Given the description of an element on the screen output the (x, y) to click on. 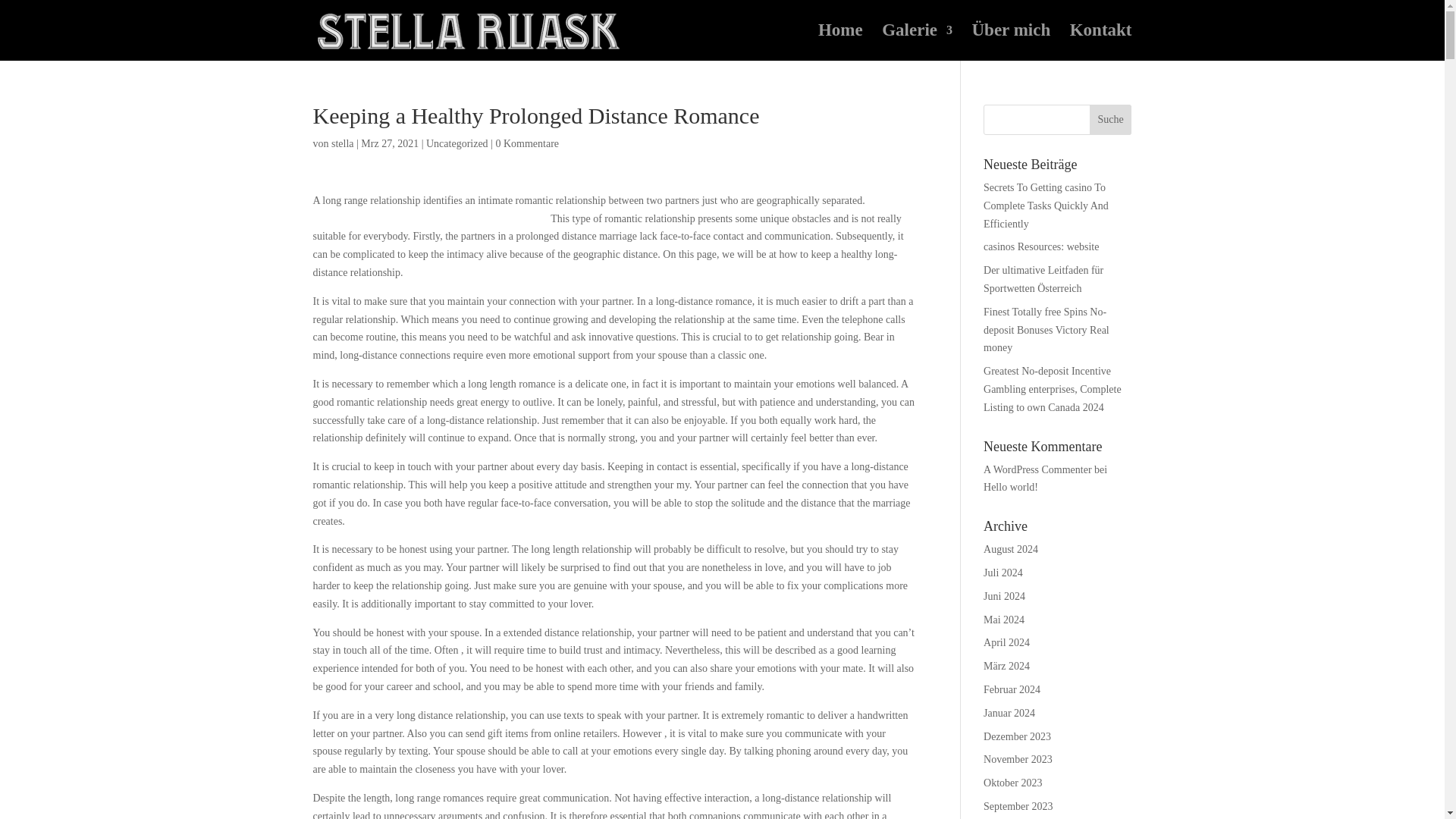
Mai 2024 (1004, 619)
0 Kommentare (527, 143)
Galerie (917, 42)
Suche (1110, 119)
casinos Resources: website (1041, 246)
Home (840, 42)
Uncategorized (456, 143)
Januar 2024 (1009, 713)
Juli 2024 (1003, 572)
Dezember 2023 (1017, 736)
